Given the description of an element on the screen output the (x, y) to click on. 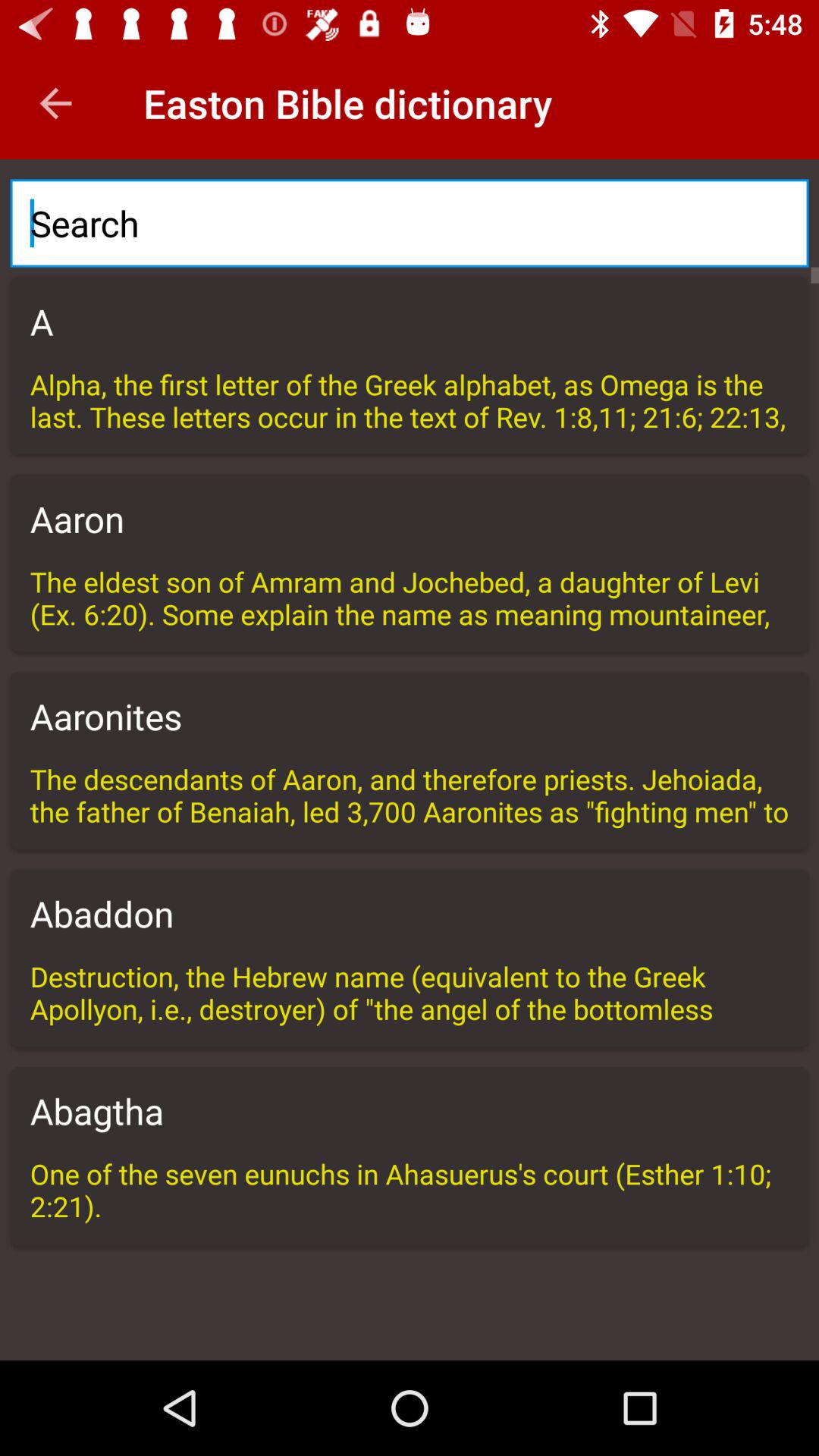
turn off the abaddon (409, 913)
